Given the description of an element on the screen output the (x, y) to click on. 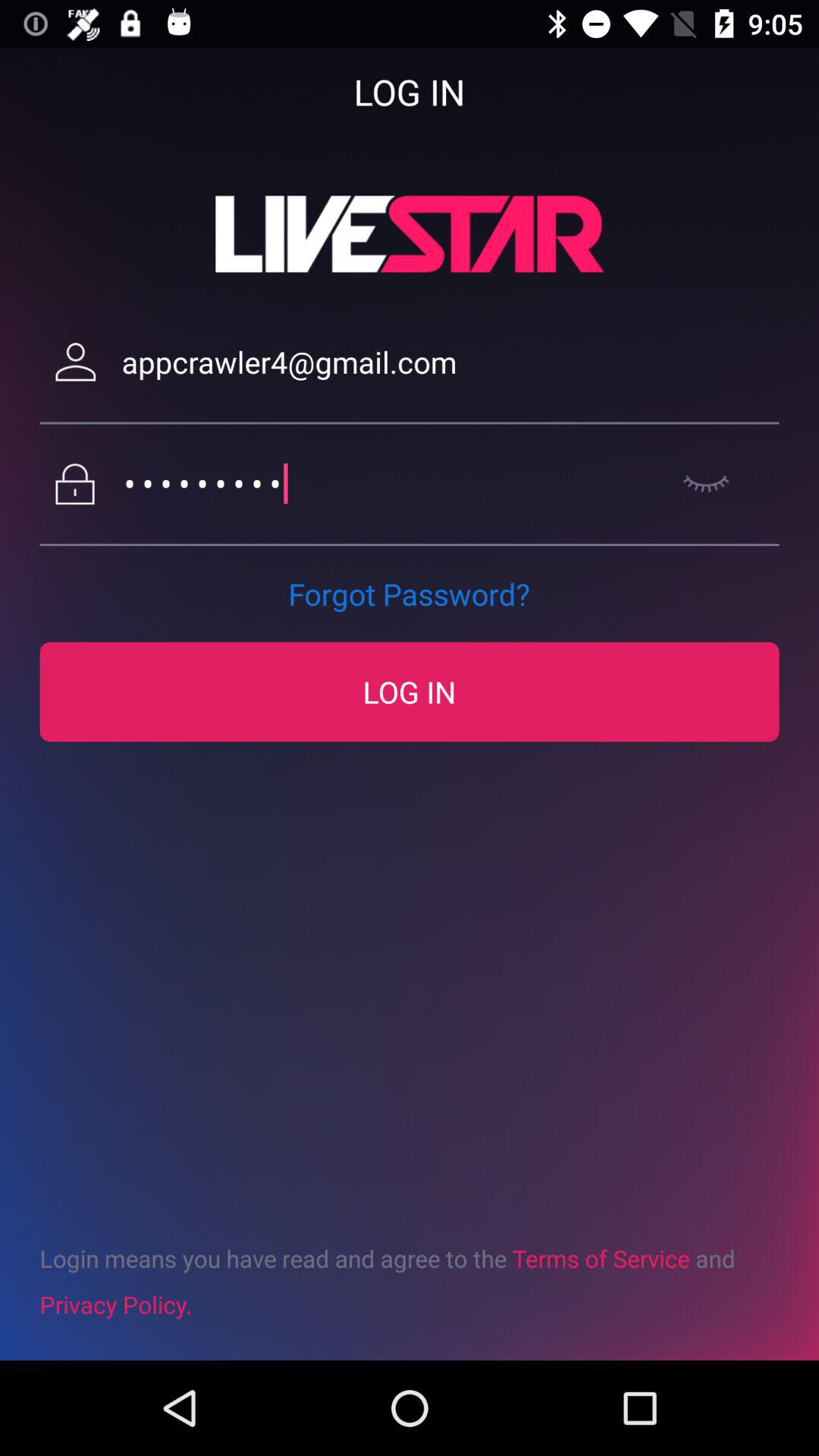
look the password (706, 483)
